Given the description of an element on the screen output the (x, y) to click on. 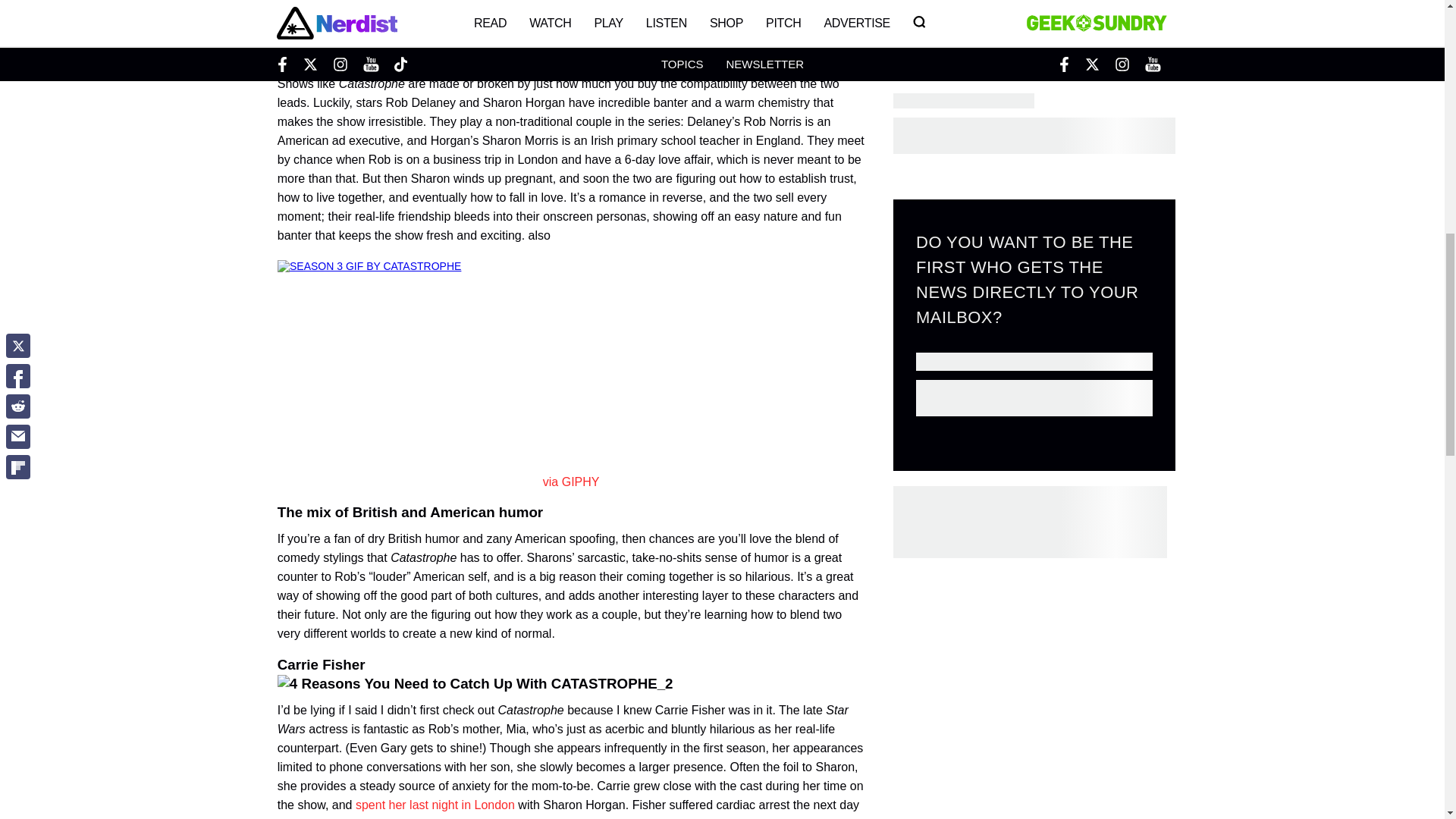
via GIPHY (571, 481)
spent her last night in London (435, 804)
